Given the description of an element on the screen output the (x, y) to click on. 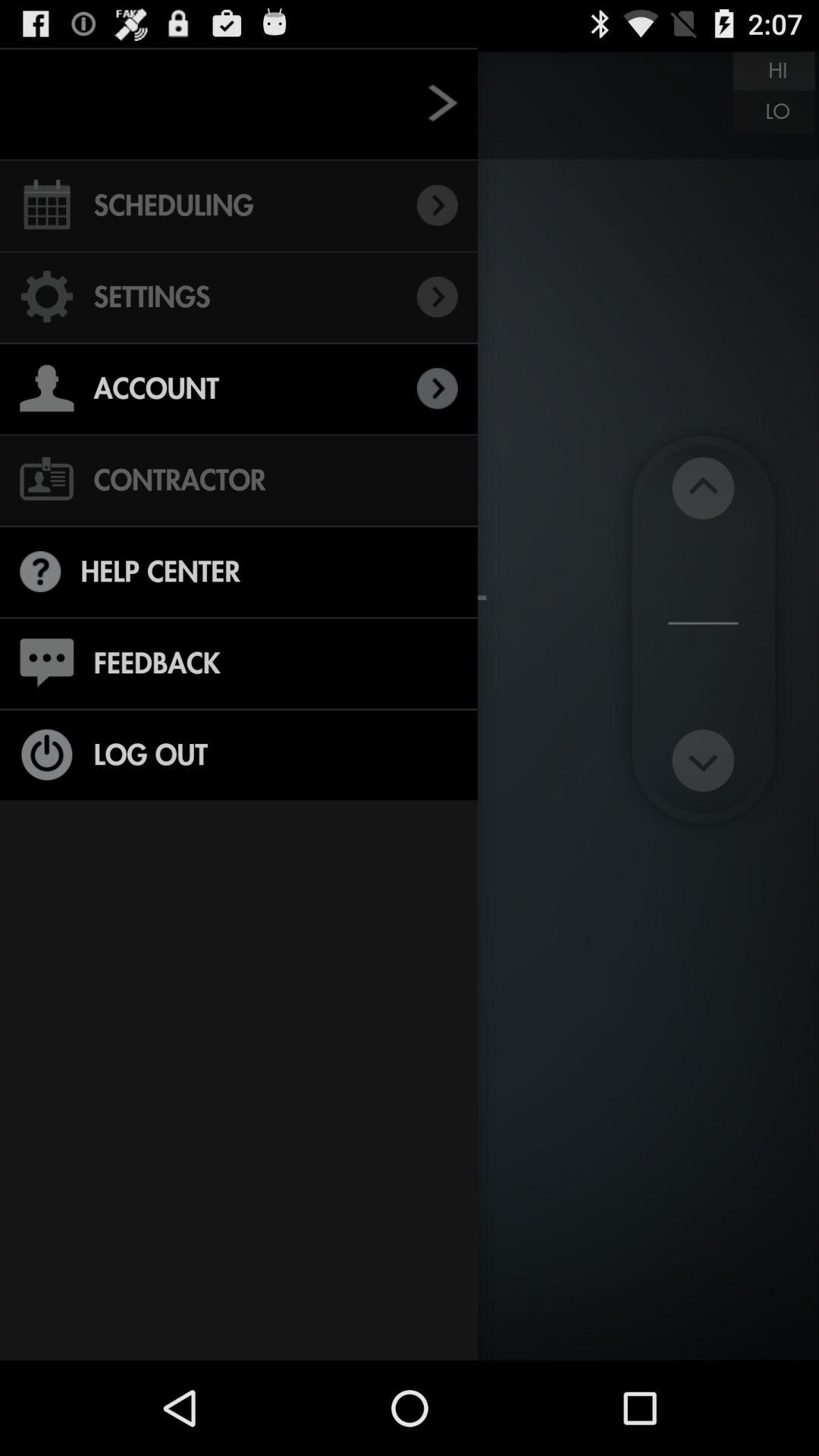
click on upward arrow buton at right middle (702, 488)
click on the right arrow which is next to account (437, 387)
